Given the description of an element on the screen output the (x, y) to click on. 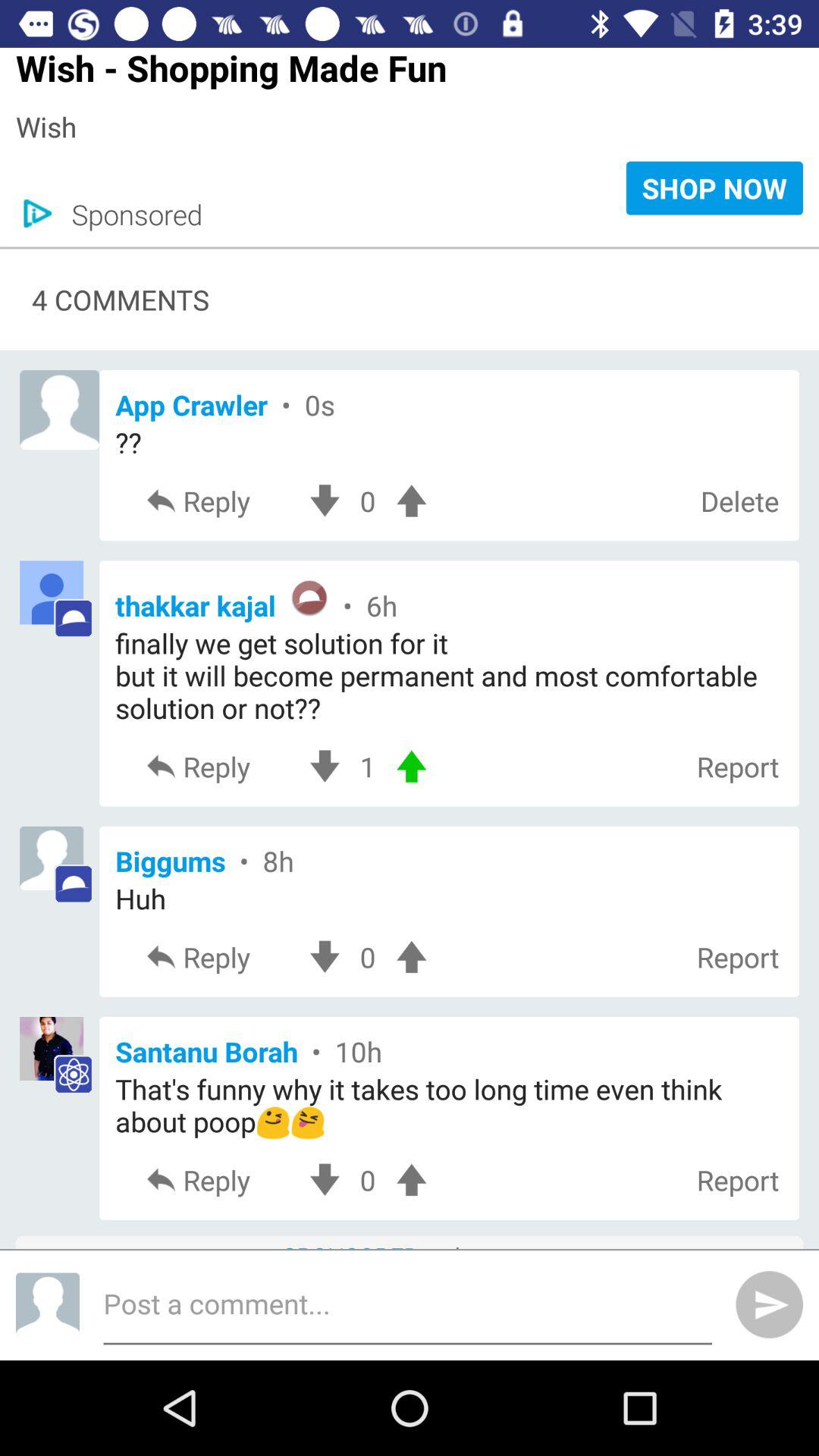
select the send icon which is in bottom right corner of the page (769, 1304)
click on the report which is below text delete (737, 766)
click on the box which says post a comment (407, 1304)
select the image which is before the app crawler (59, 409)
click on the text option reply below the text app crawler (218, 500)
click on text reply just above the text santanu borah (218, 957)
click on the text app crawler which is right side of the user icon (448, 404)
